Given the description of an element on the screen output the (x, y) to click on. 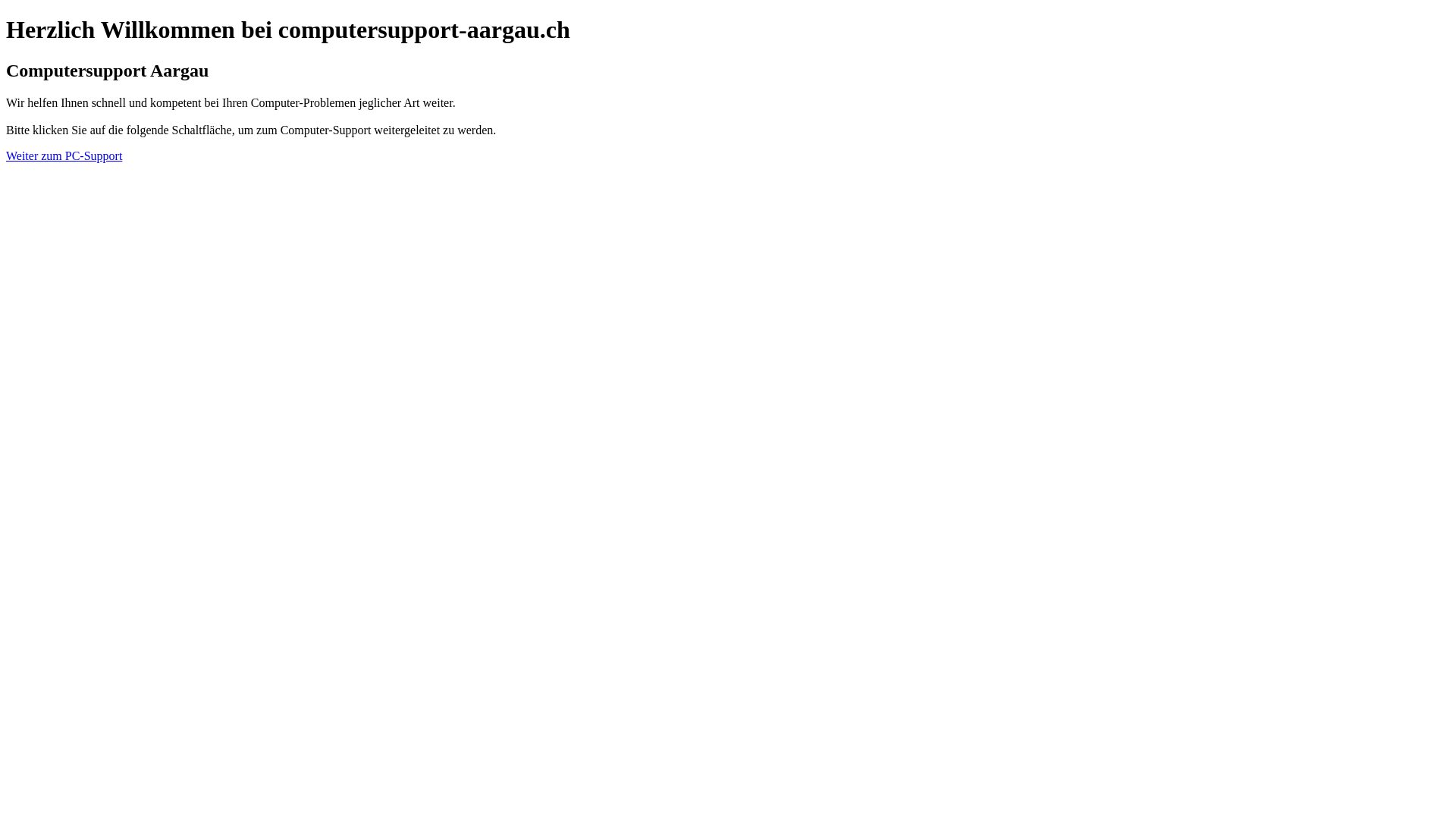
Weiter zum PC-Support Element type: text (64, 155)
